Given the description of an element on the screen output the (x, y) to click on. 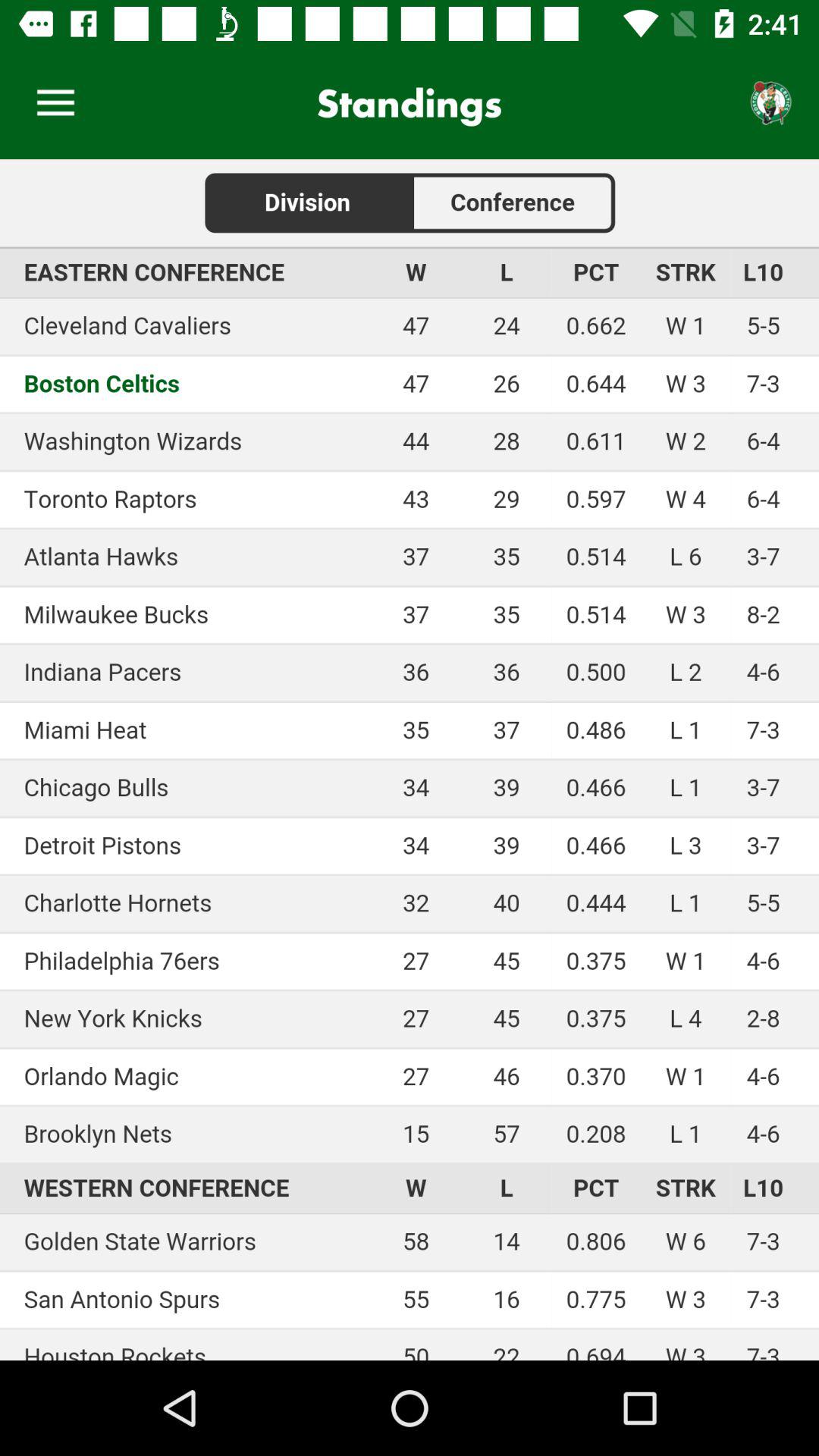
view scores (409, 759)
